Given the description of an element on the screen output the (x, y) to click on. 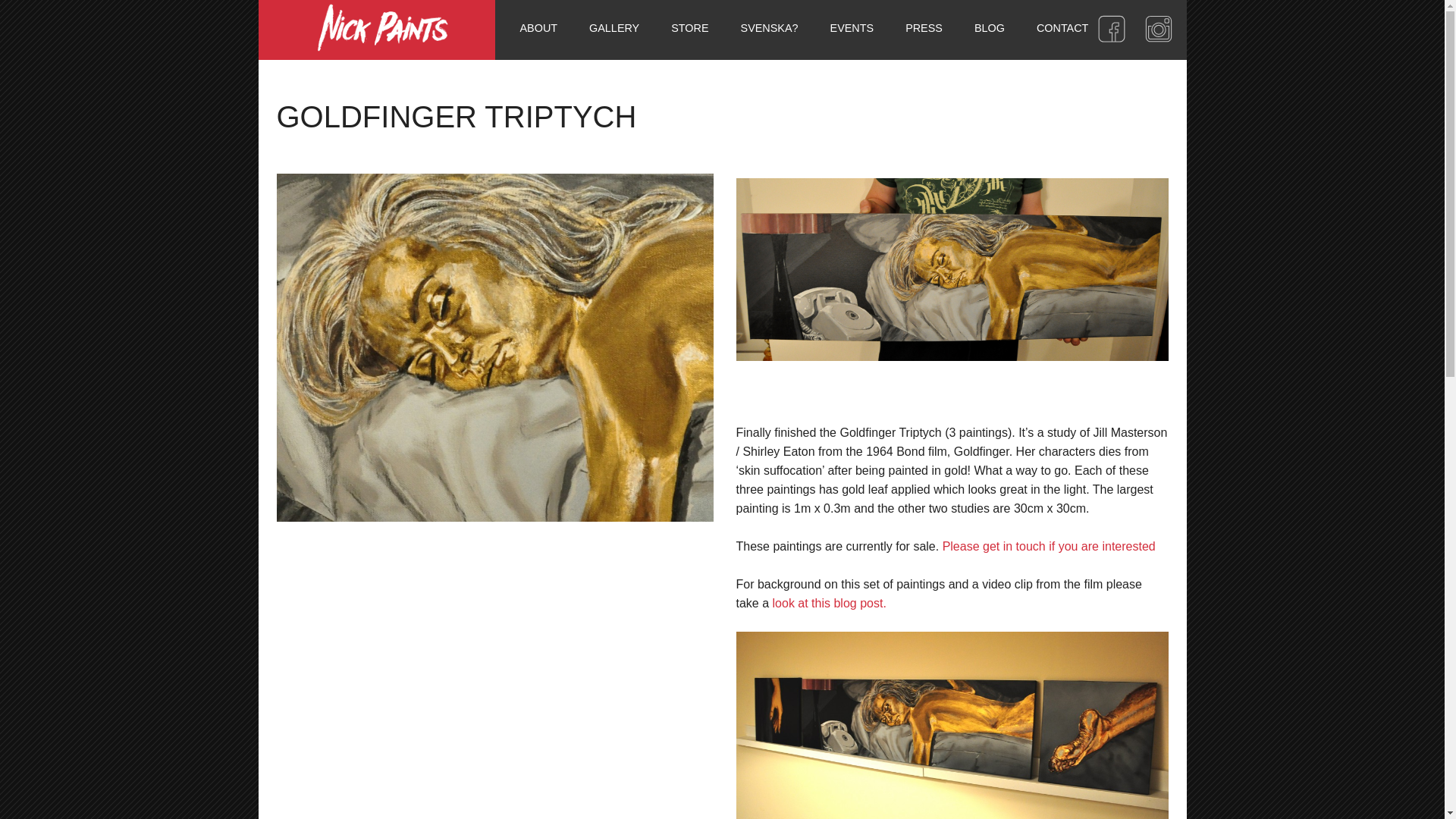
PRESS (923, 28)
SVENSKA? (769, 28)
CONTACT (1061, 28)
GALLERY (614, 28)
ABOUT (538, 28)
STORE (689, 28)
Please get in touch if you are interested (1049, 545)
look at this blog post. (829, 603)
BLOG (989, 28)
EVENTS (851, 28)
